Given the description of an element on the screen output the (x, y) to click on. 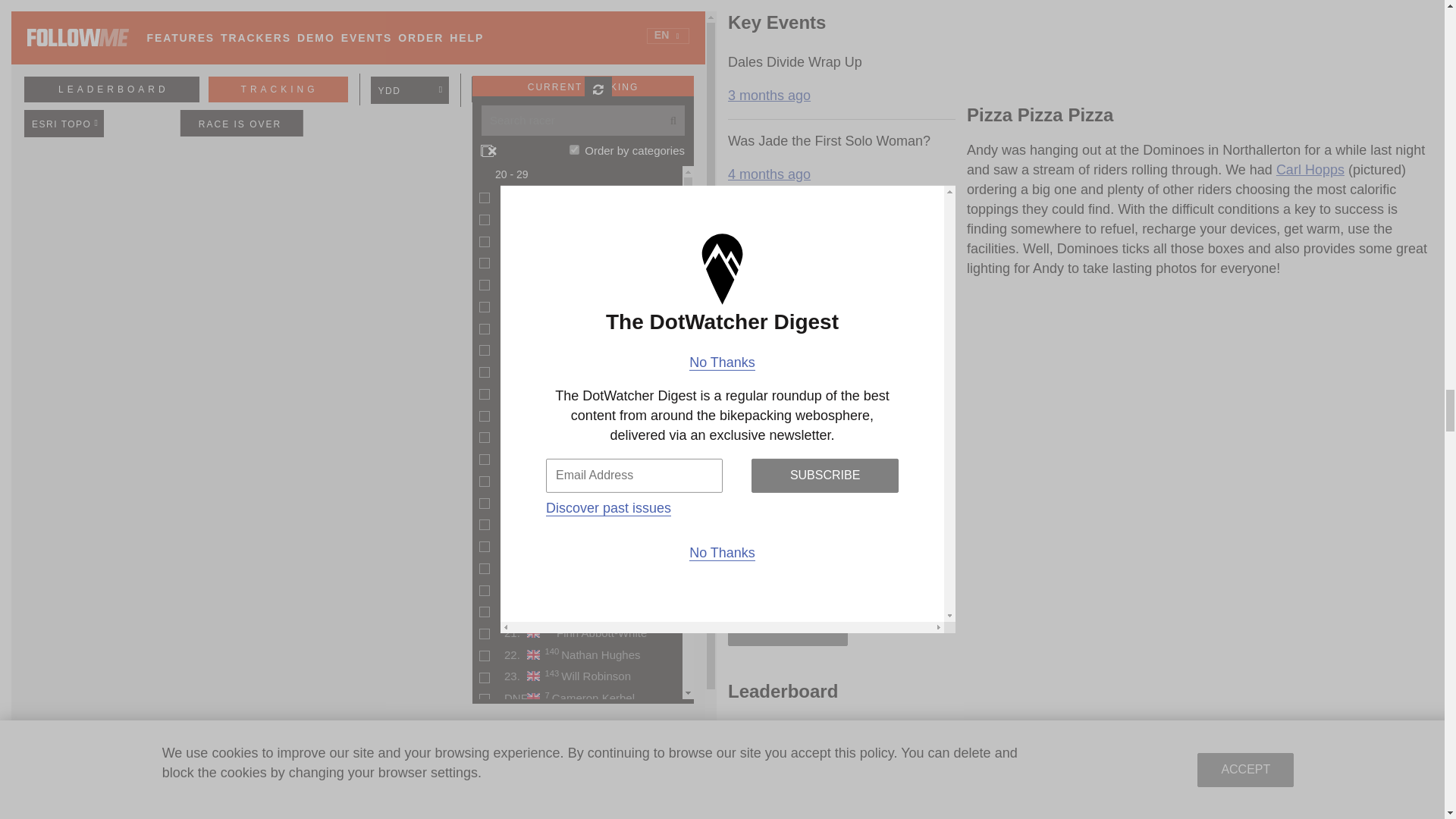
Carl Hopps (1309, 169)
